Given the description of an element on the screen output the (x, y) to click on. 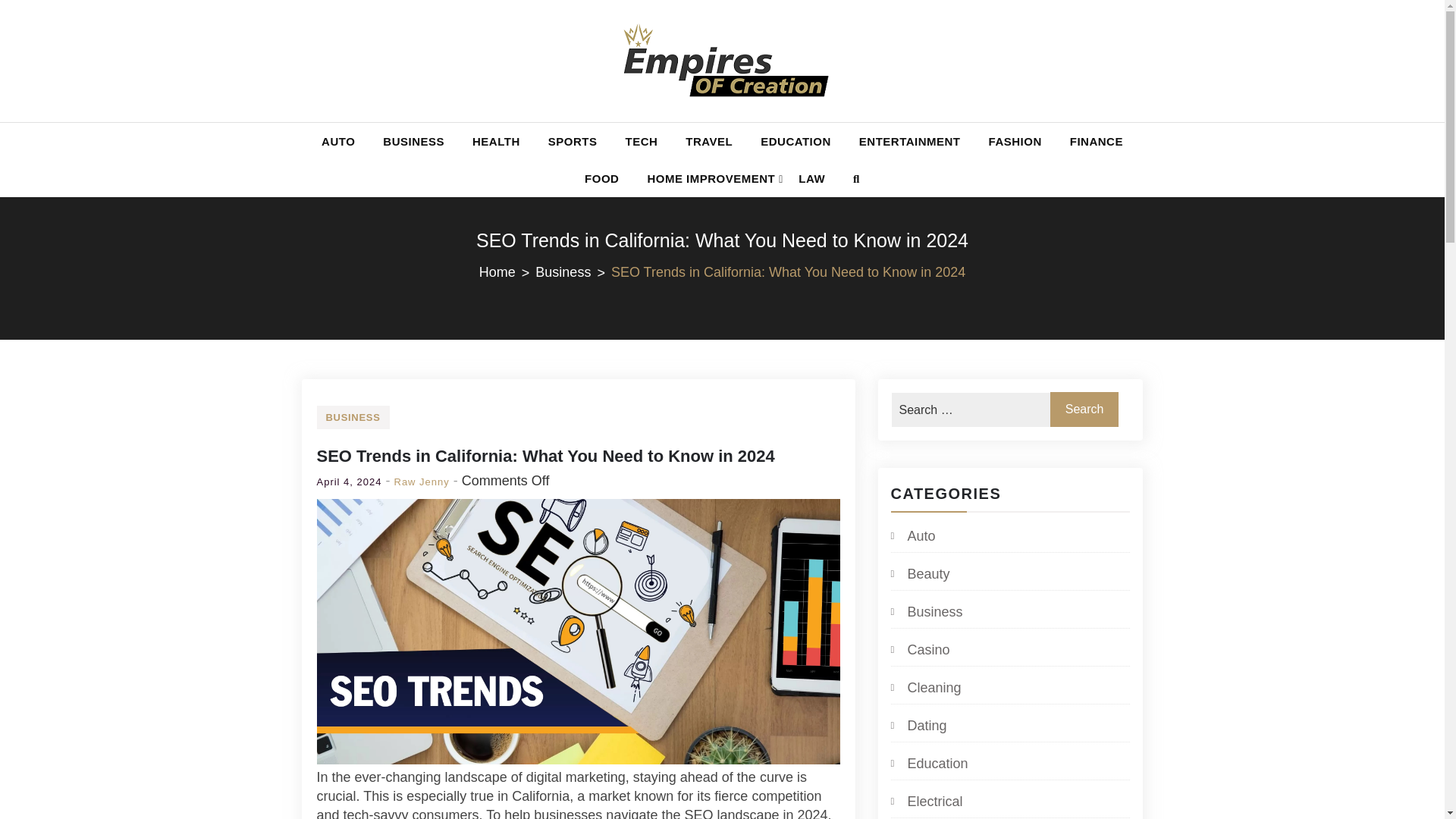
Cleaning (924, 687)
FASHION (1015, 140)
Home (507, 271)
EDUCATION (795, 140)
Search (46, 31)
Business (925, 611)
HOME IMPROVEMENT (708, 178)
SPORTS (572, 140)
SEO Trends in California: What You Need to Know in 2024 (545, 456)
AUTO (337, 140)
Casino (919, 649)
Search (1084, 409)
HEALTH (496, 140)
TECH (640, 140)
FINANCE (1096, 140)
